Given the description of an element on the screen output the (x, y) to click on. 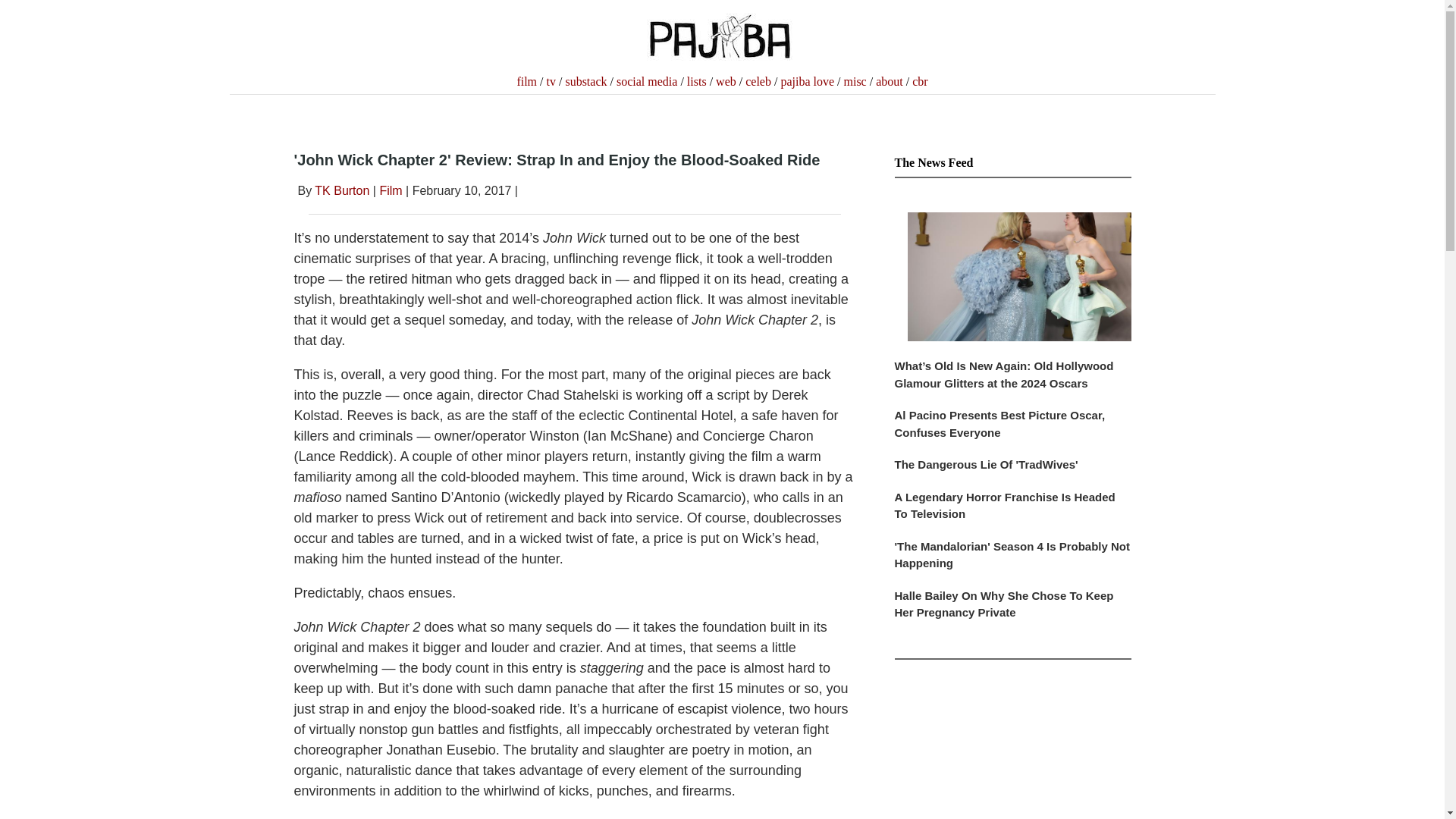
lists (696, 81)
Al Pacino Presents Best Picture Oscar, Confuses Everyone (1013, 431)
pajiba love (807, 81)
celeb (758, 81)
A Legendary Horror Franchise Is Headed To Television (1013, 512)
about (889, 81)
TK Burton (341, 190)
web (726, 81)
Halle Bailey On Why She Chose To Keep Her Pregnancy Private (1013, 611)
Film (389, 190)
